Given the description of an element on the screen output the (x, y) to click on. 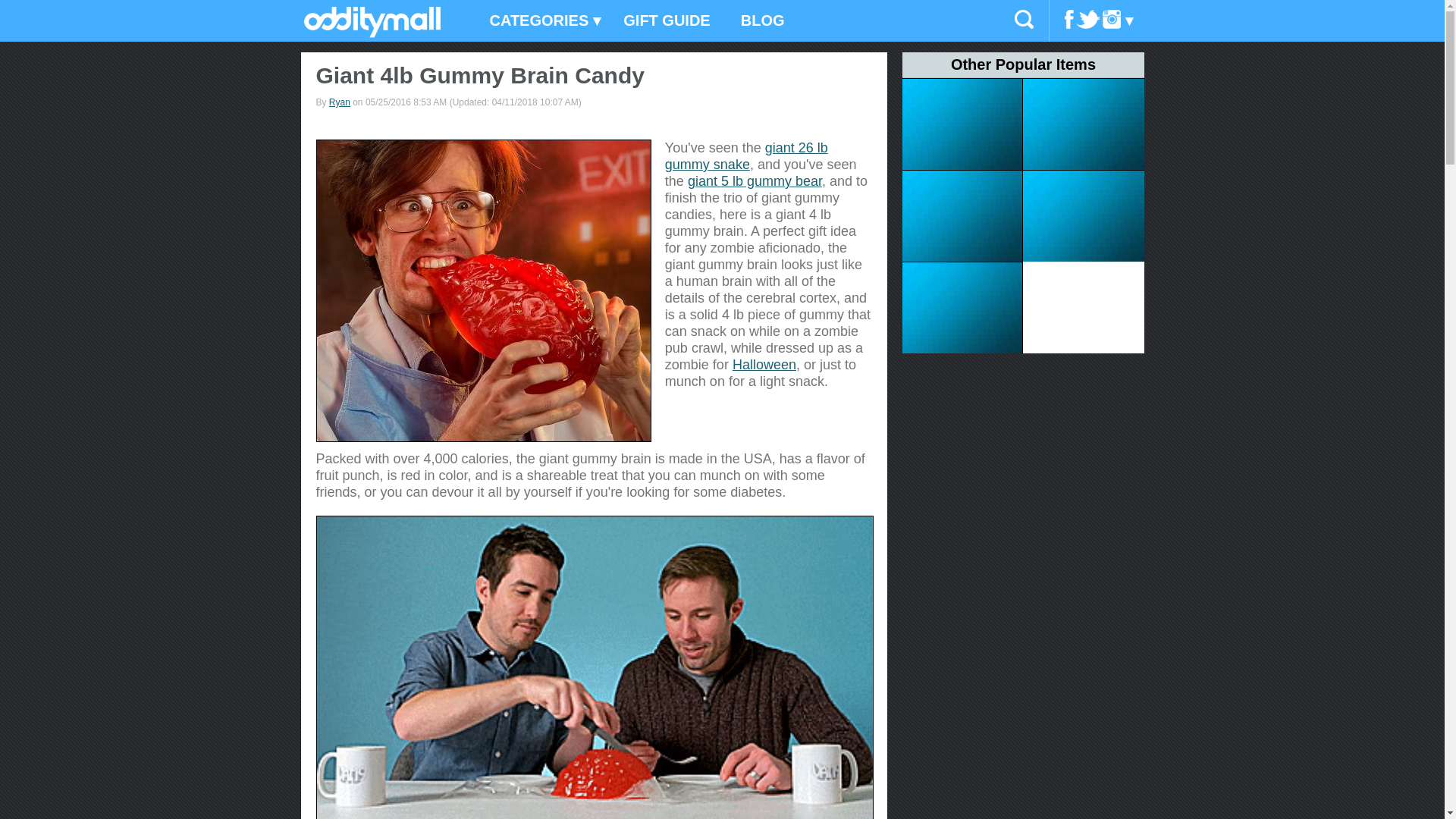
GIFT GUIDE (666, 20)
giant 5 lb gummy bear (754, 181)
BLOG (762, 20)
CATEGORIES (541, 20)
giant 26 lb gummy snake (746, 155)
Unique Gifts - Unusual Gift Ideas (371, 32)
Ryan (339, 102)
Giant 4lb Gummy Brain Candy (482, 290)
Halloween (764, 364)
